Given the description of an element on the screen output the (x, y) to click on. 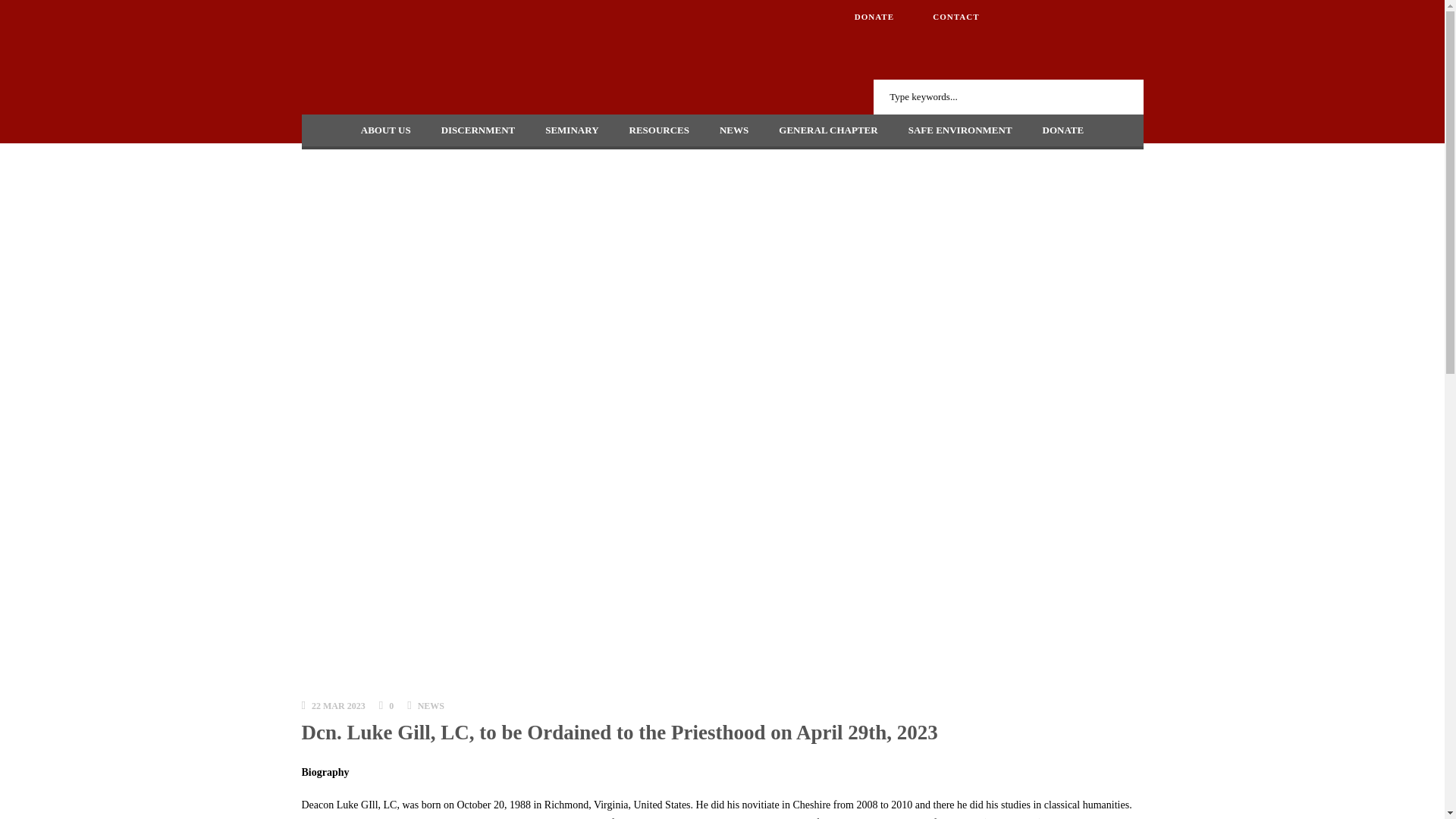
CONTACT (955, 17)
Type keywords... (1007, 96)
DONATE (874, 17)
